Given the description of an element on the screen output the (x, y) to click on. 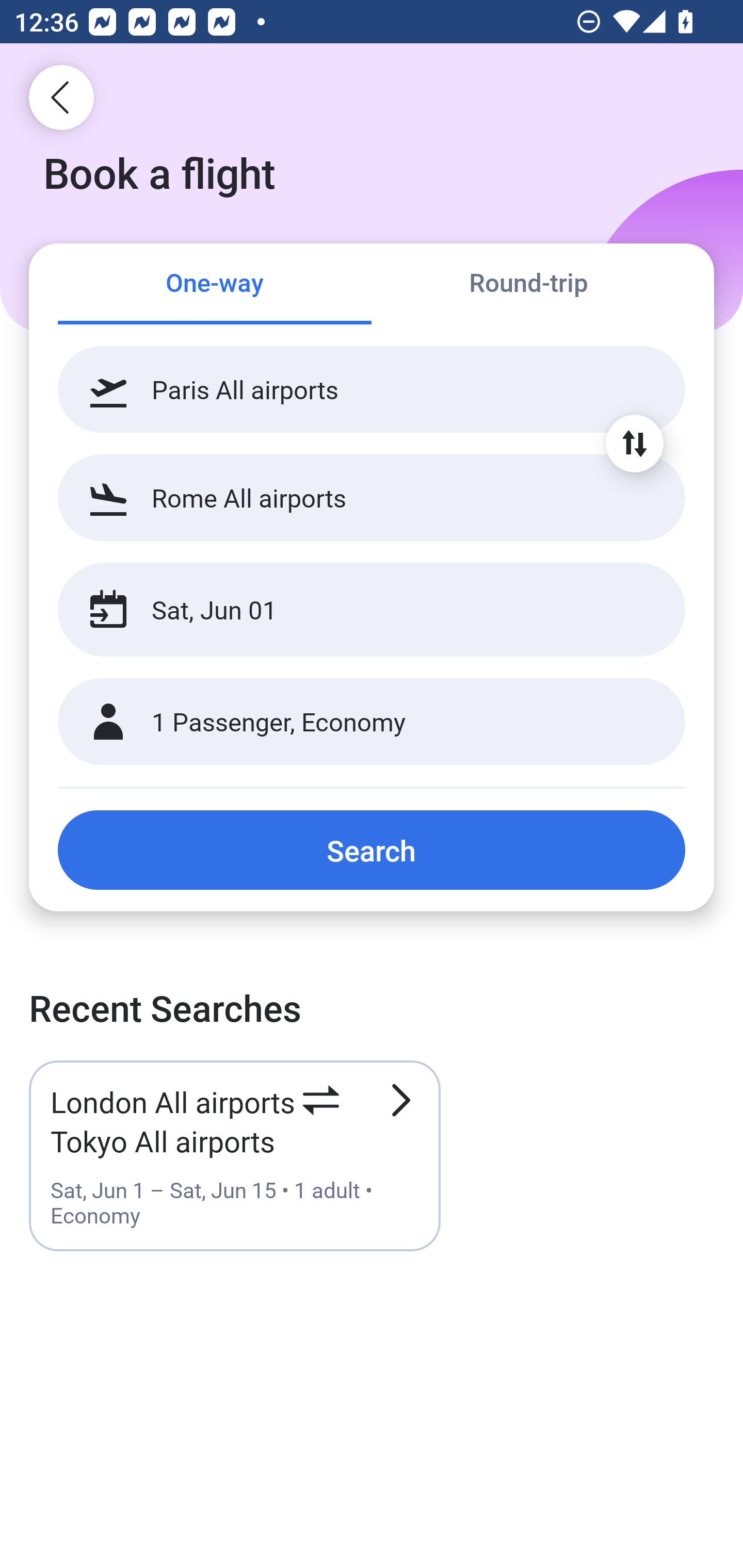
Round-trip (528, 284)
Paris All airports (371, 389)
Rome All airports (371, 497)
Sat, Jun 01 (349, 609)
1 Passenger, Economy (371, 721)
Search (371, 849)
